Given the description of an element on the screen output the (x, y) to click on. 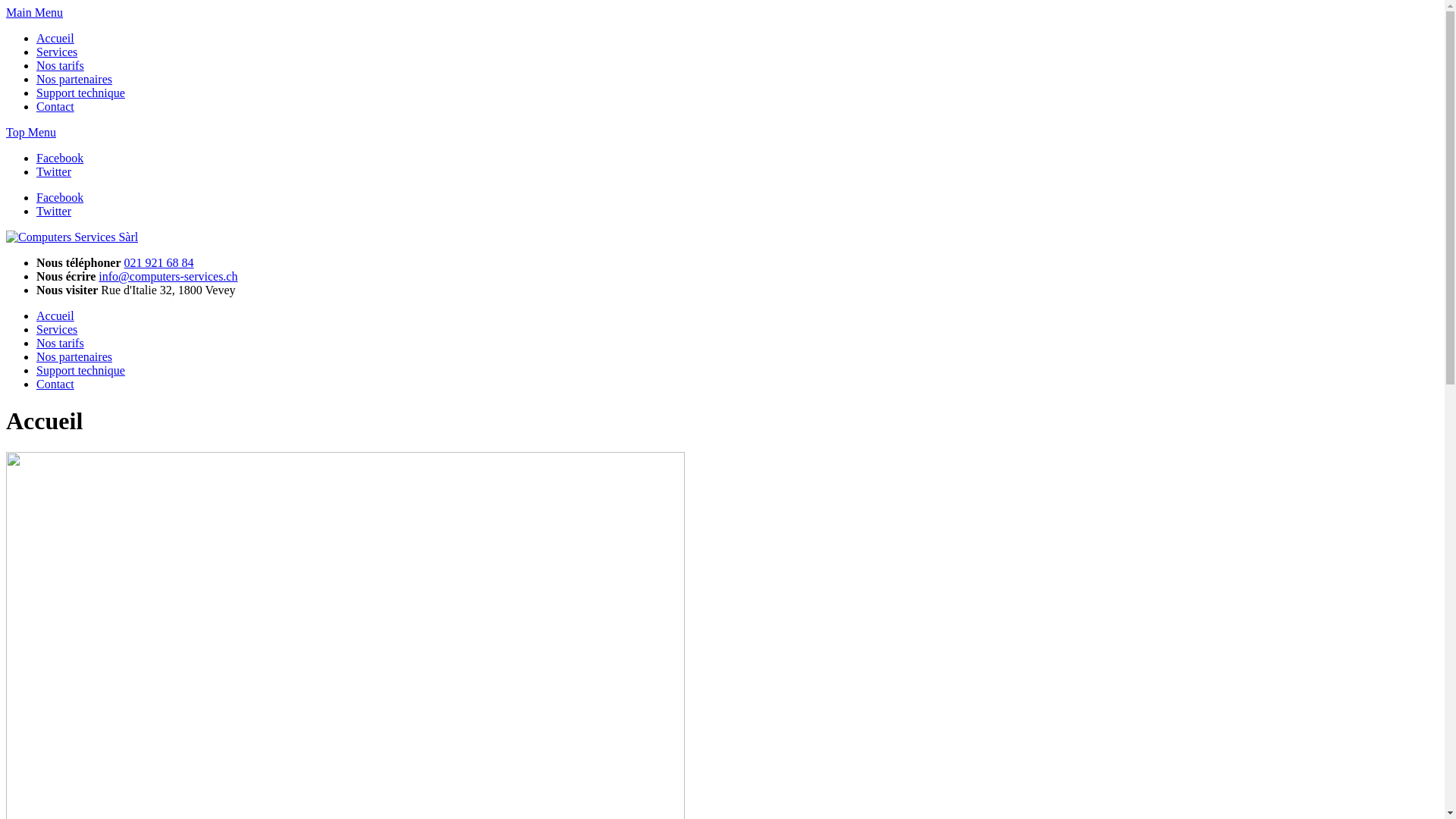
info@computers-services.ch Element type: text (167, 275)
Accueil Element type: text (55, 37)
Nos tarifs Element type: text (60, 65)
Nos partenaires Element type: text (74, 356)
Facebook Element type: text (59, 197)
Main Menu Element type: text (34, 12)
Services Element type: text (56, 329)
Top Menu Element type: text (31, 131)
Nos partenaires Element type: text (74, 78)
Facebook Element type: text (59, 157)
Twitter Element type: text (53, 210)
Contact Element type: text (55, 383)
Twitter Element type: text (53, 171)
021 921 68 84 Element type: text (159, 262)
Services Element type: text (56, 51)
Skip to content Element type: text (5, 5)
Contact Element type: text (55, 106)
Support technique Element type: text (80, 92)
Nos tarifs Element type: text (60, 342)
Accueil Element type: text (55, 315)
Support technique Element type: text (80, 370)
